Given the description of an element on the screen output the (x, y) to click on. 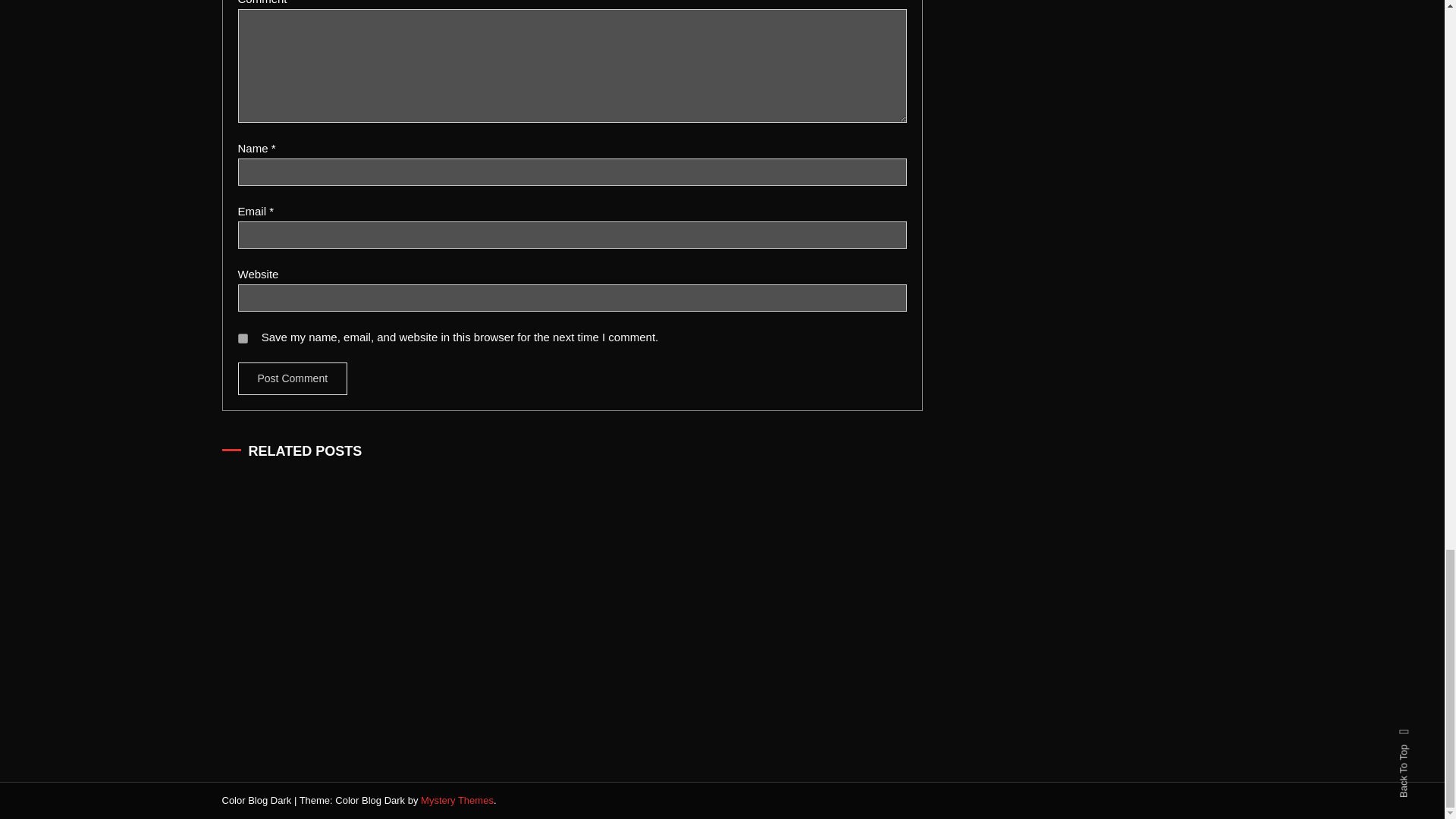
Post Comment (292, 378)
Post Comment (292, 378)
Mystery Themes (456, 799)
yes (242, 338)
